Given the description of an element on the screen output the (x, y) to click on. 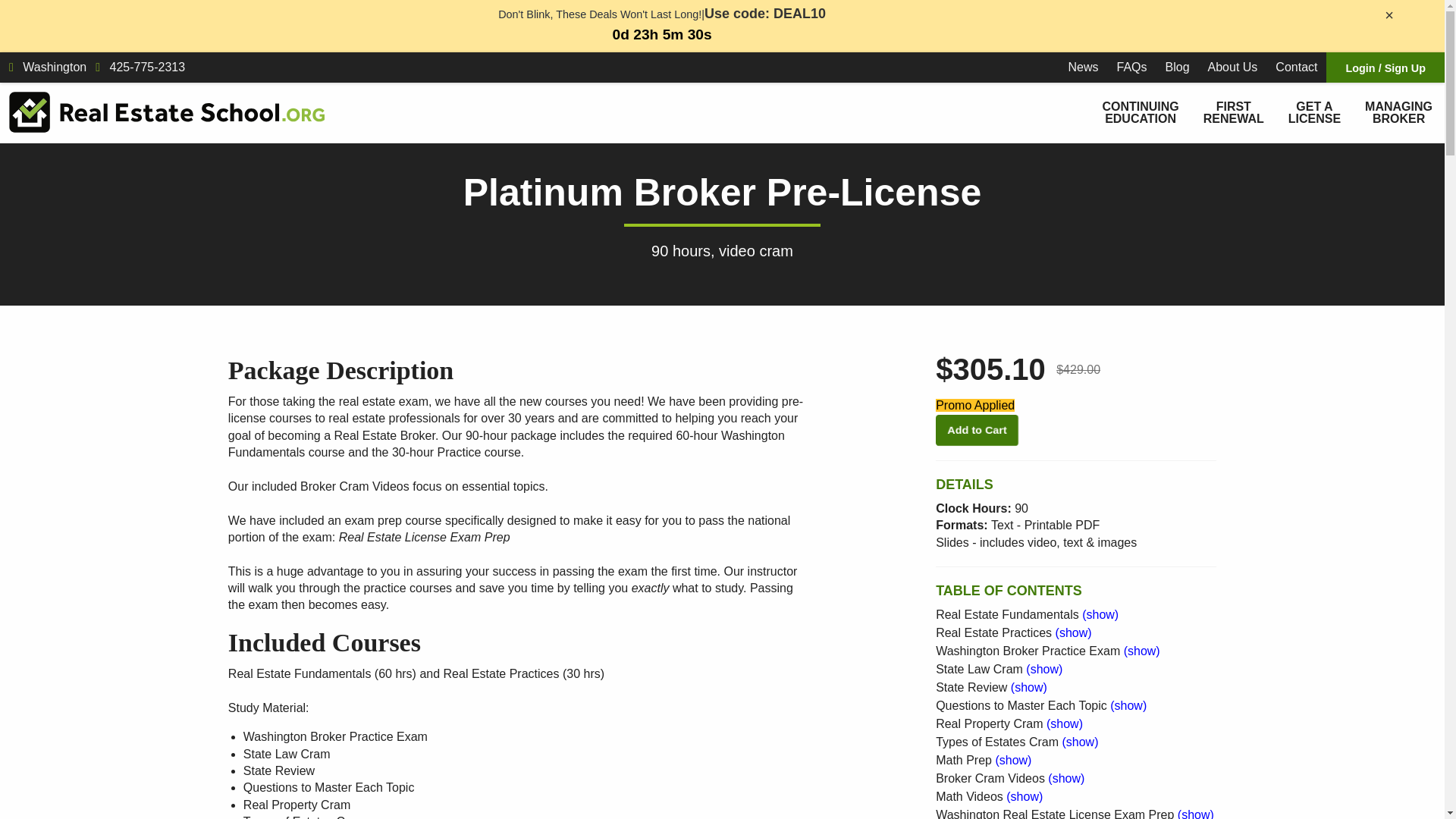
GET A LICENSE (1314, 112)
FIRST RENEWAL (1233, 112)
News (1082, 67)
Contact (1296, 67)
Blog (1177, 67)
About Us (1232, 67)
FAQs (1131, 67)
CONTINUING EDUCATION (1140, 112)
